Given the description of an element on the screen output the (x, y) to click on. 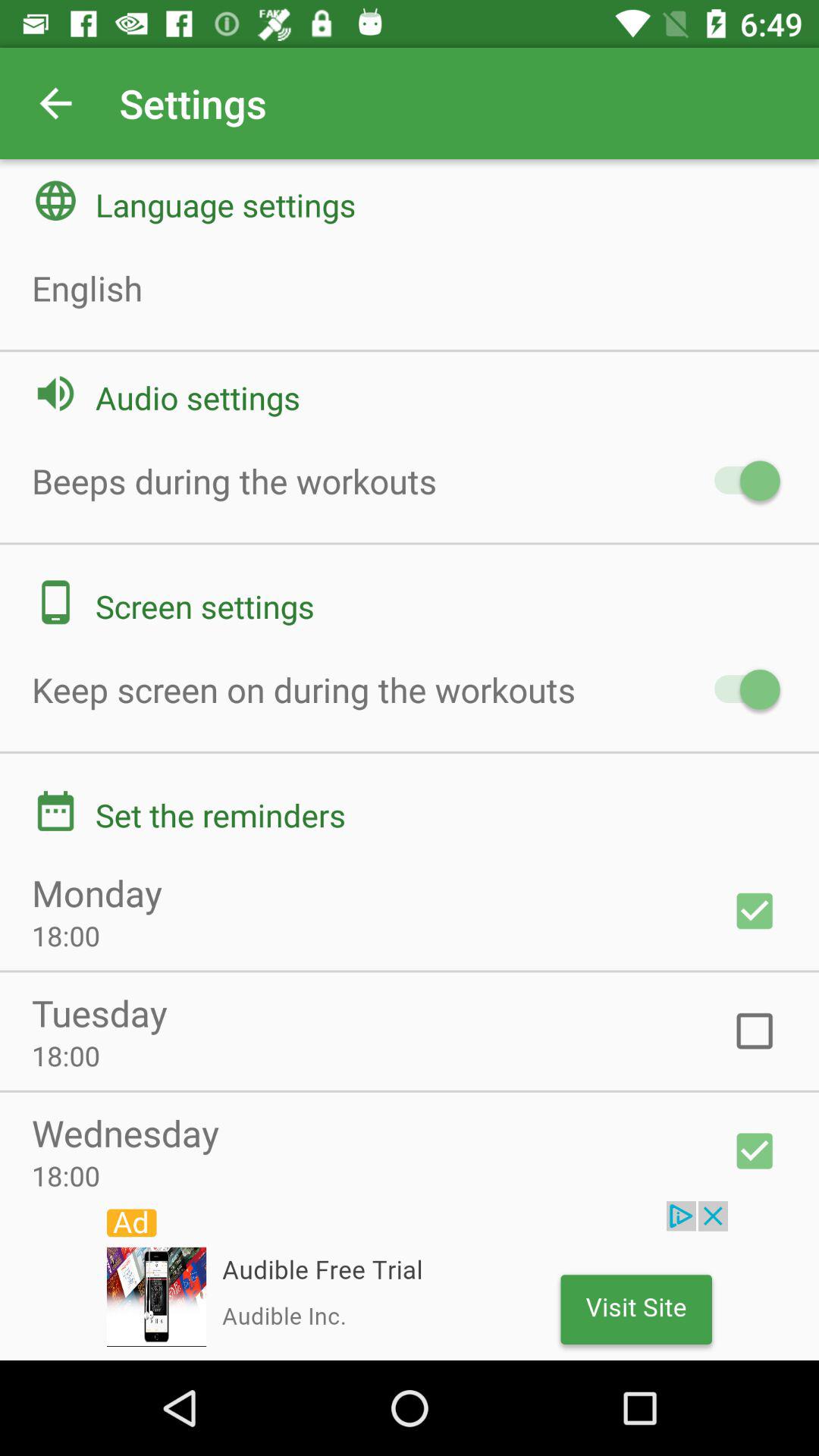
check wednesday at 18:00 (754, 1151)
